Given the description of an element on the screen output the (x, y) to click on. 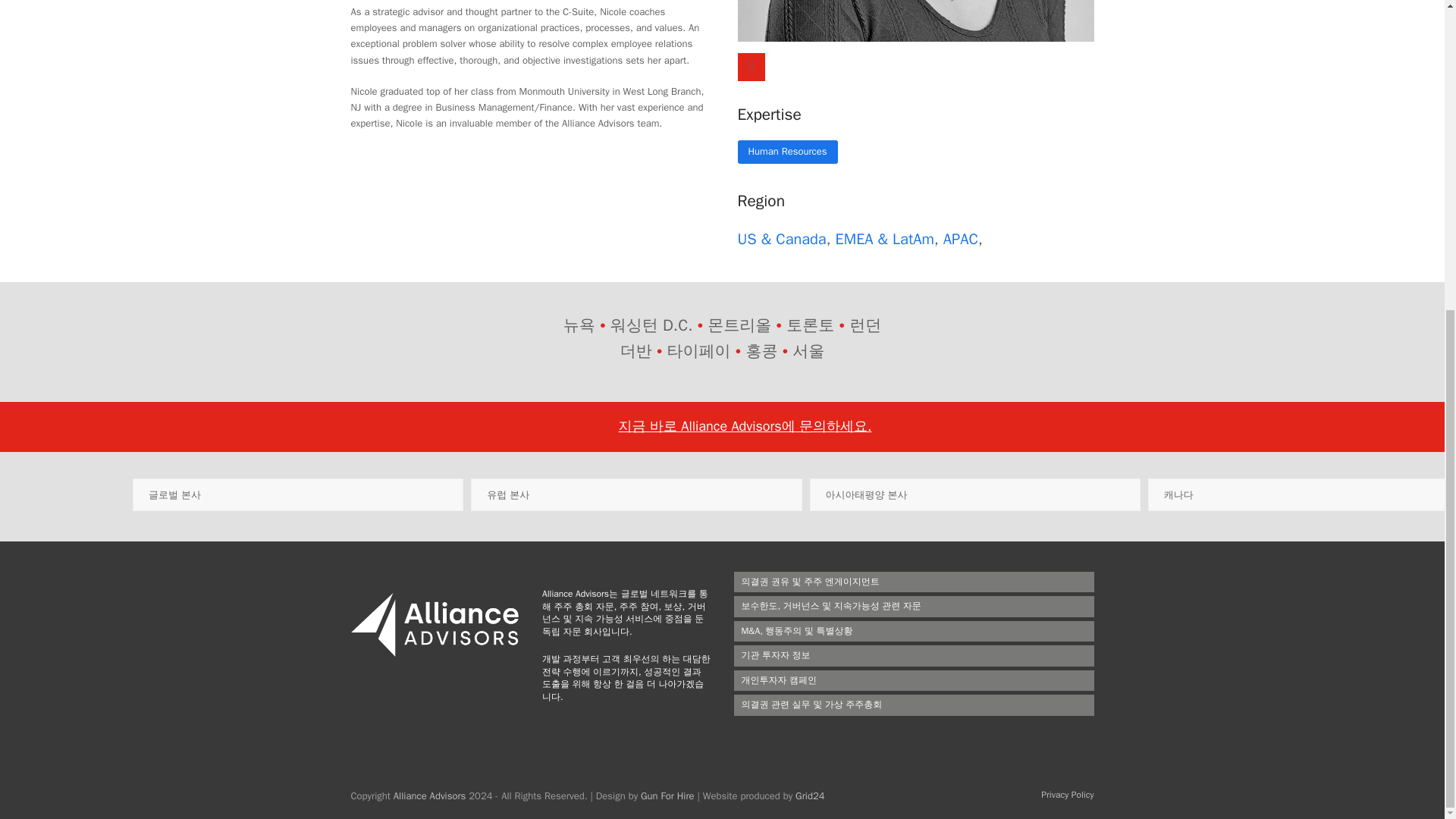
APAC (960, 239)
Email (750, 67)
Human Resources (786, 151)
